Given the description of an element on the screen output the (x, y) to click on. 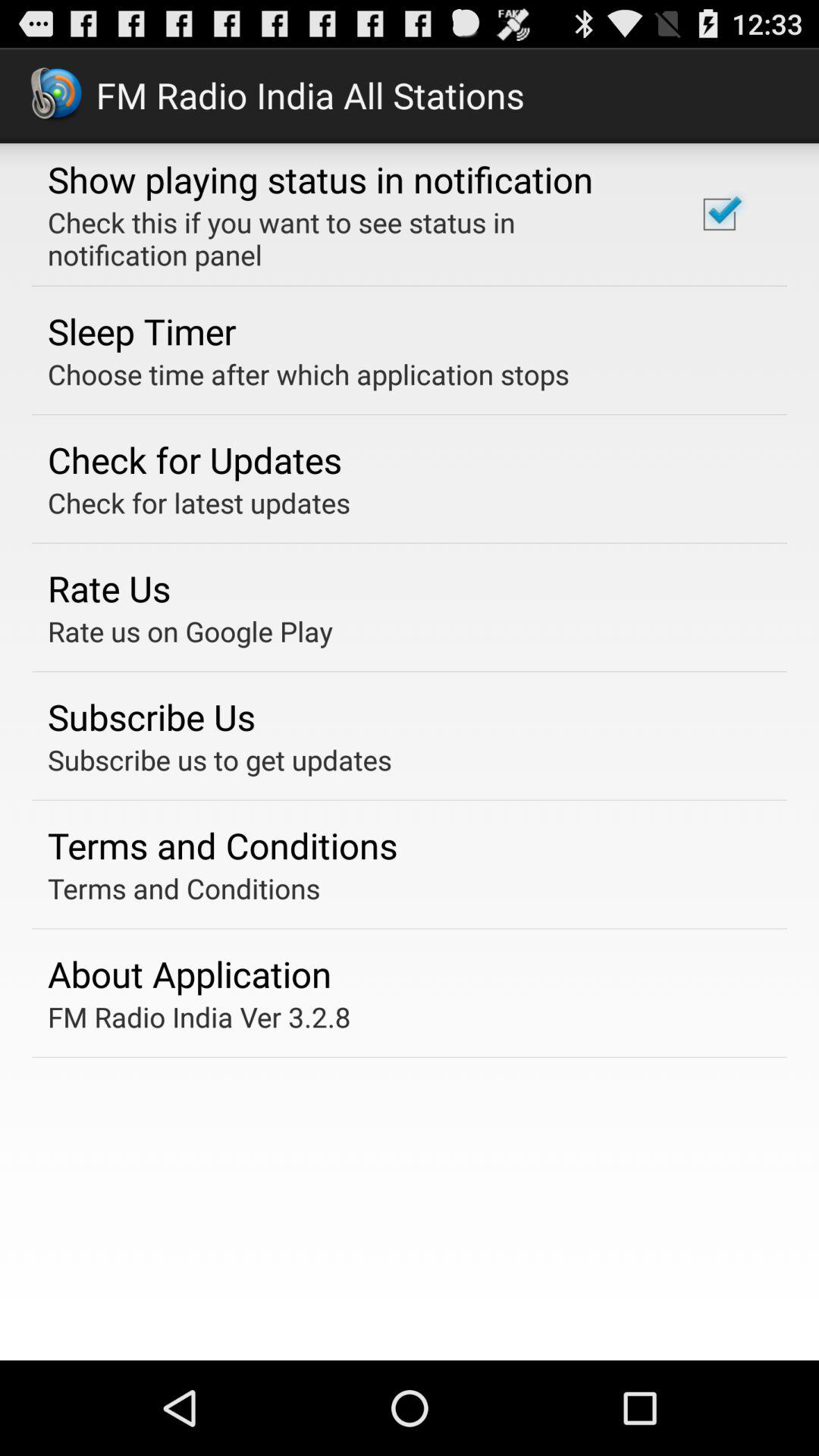
turn on the sleep timer icon (141, 331)
